Given the description of an element on the screen output the (x, y) to click on. 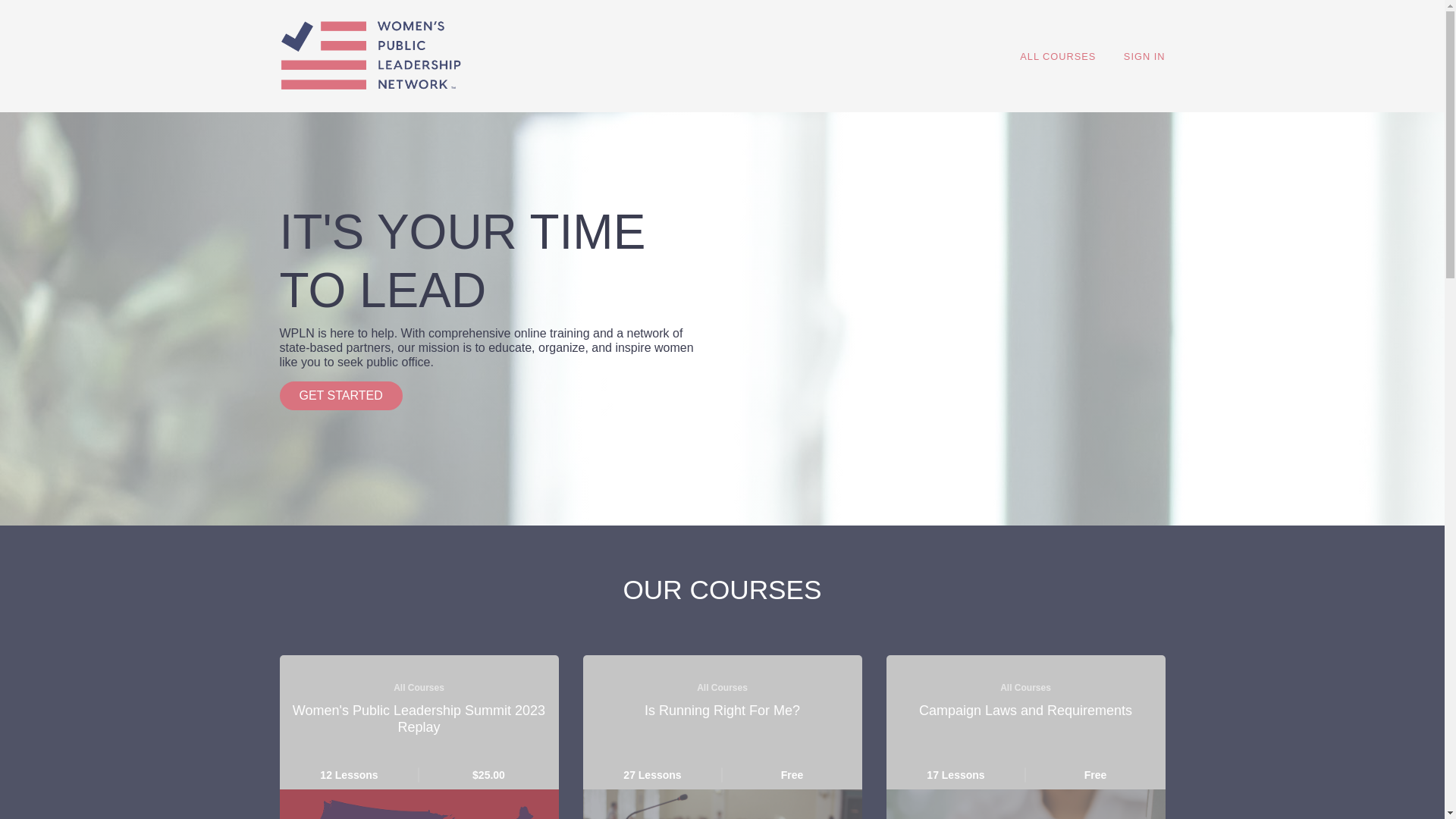
Women's Public Leadership Network (370, 54)
SIGN IN (1145, 56)
GET STARTED (721, 737)
ALL COURSES (340, 395)
